Given the description of an element on the screen output the (x, y) to click on. 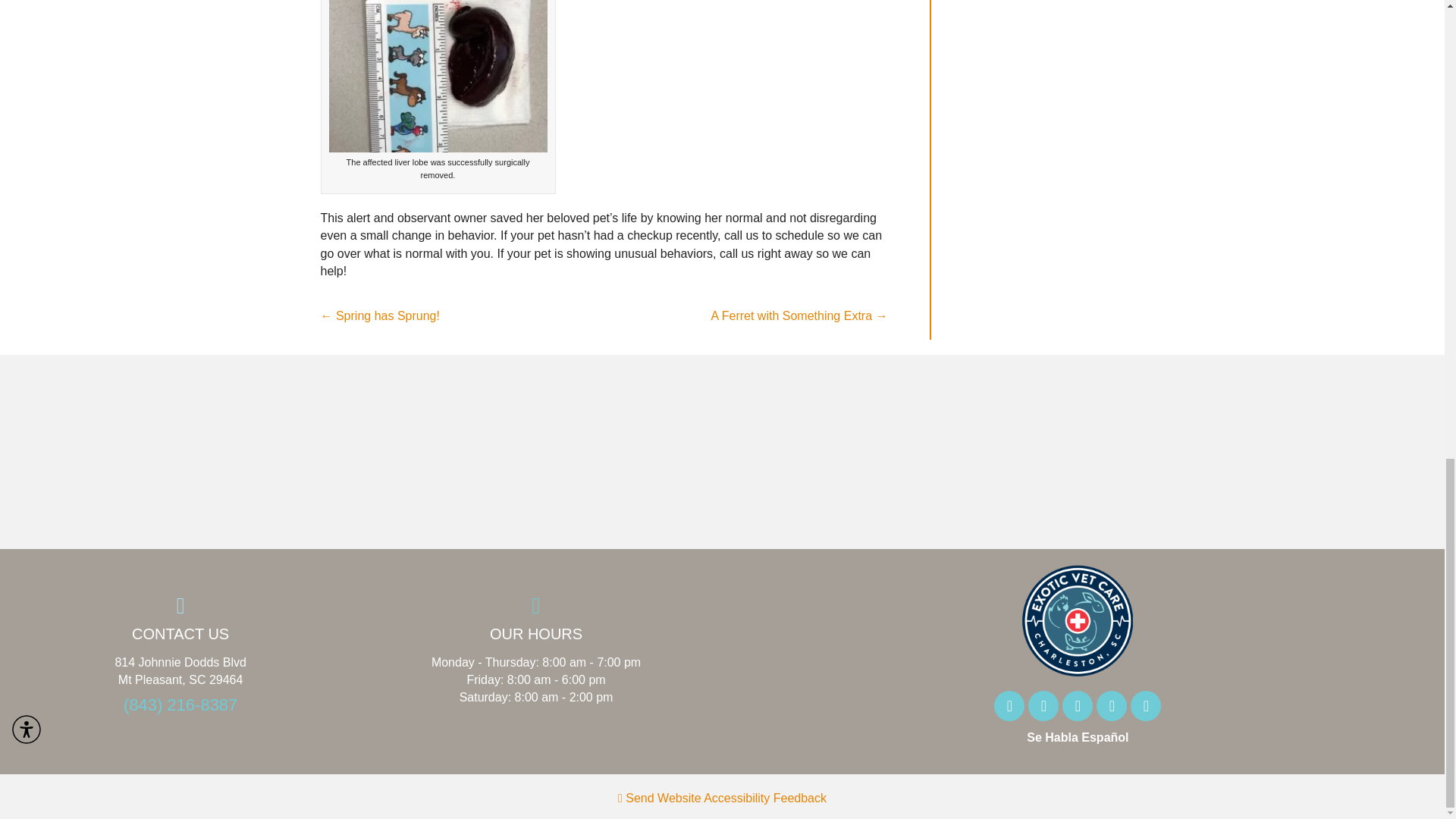
Instagram (1042, 706)
YouTube (1111, 706)
Exotic Vet Care Charleston (1077, 621)
LinkedIn (1077, 706)
Email (1145, 706)
